Given the description of an element on the screen output the (x, y) to click on. 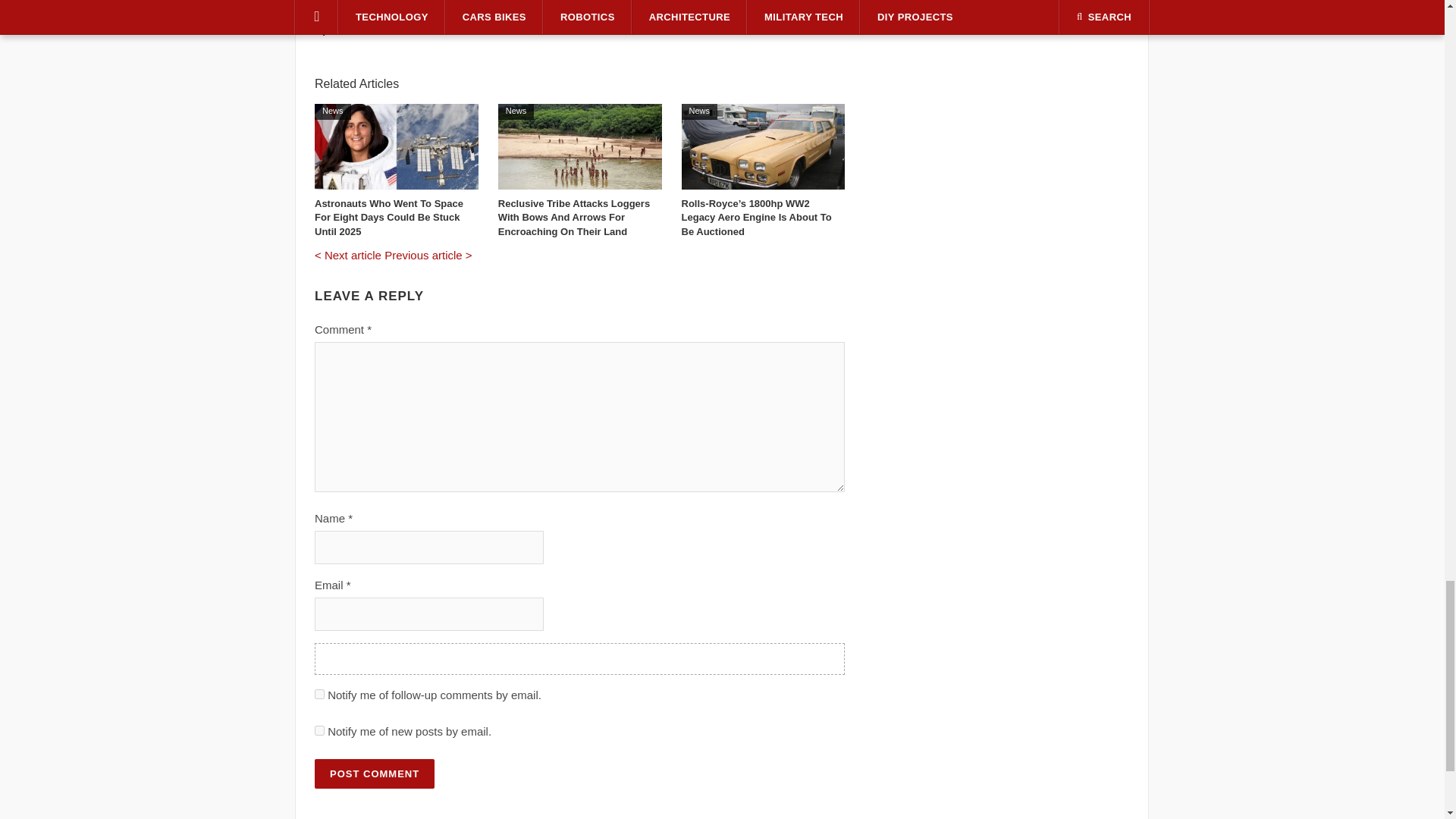
subscribe (319, 694)
Post Comment (373, 773)
subscribe (319, 730)
